Given the description of an element on the screen output the (x, y) to click on. 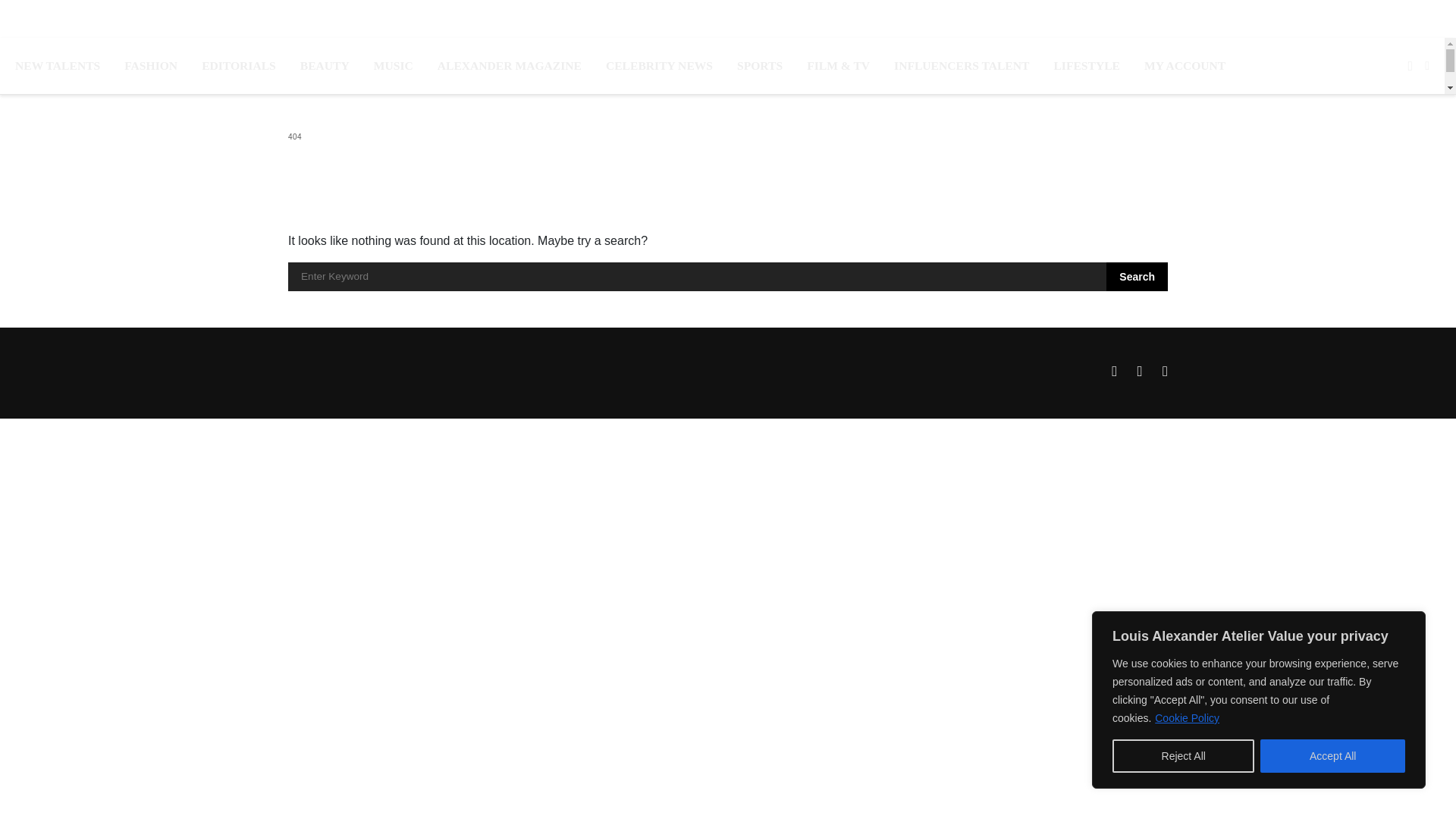
BEAUTY (324, 65)
NEW TALENTS (57, 65)
EDITORIALS (239, 65)
FASHION (150, 65)
ALEXANDER MAGAZINE (509, 65)
CELEBRITY NEWS (659, 65)
